Given the description of an element on the screen output the (x, y) to click on. 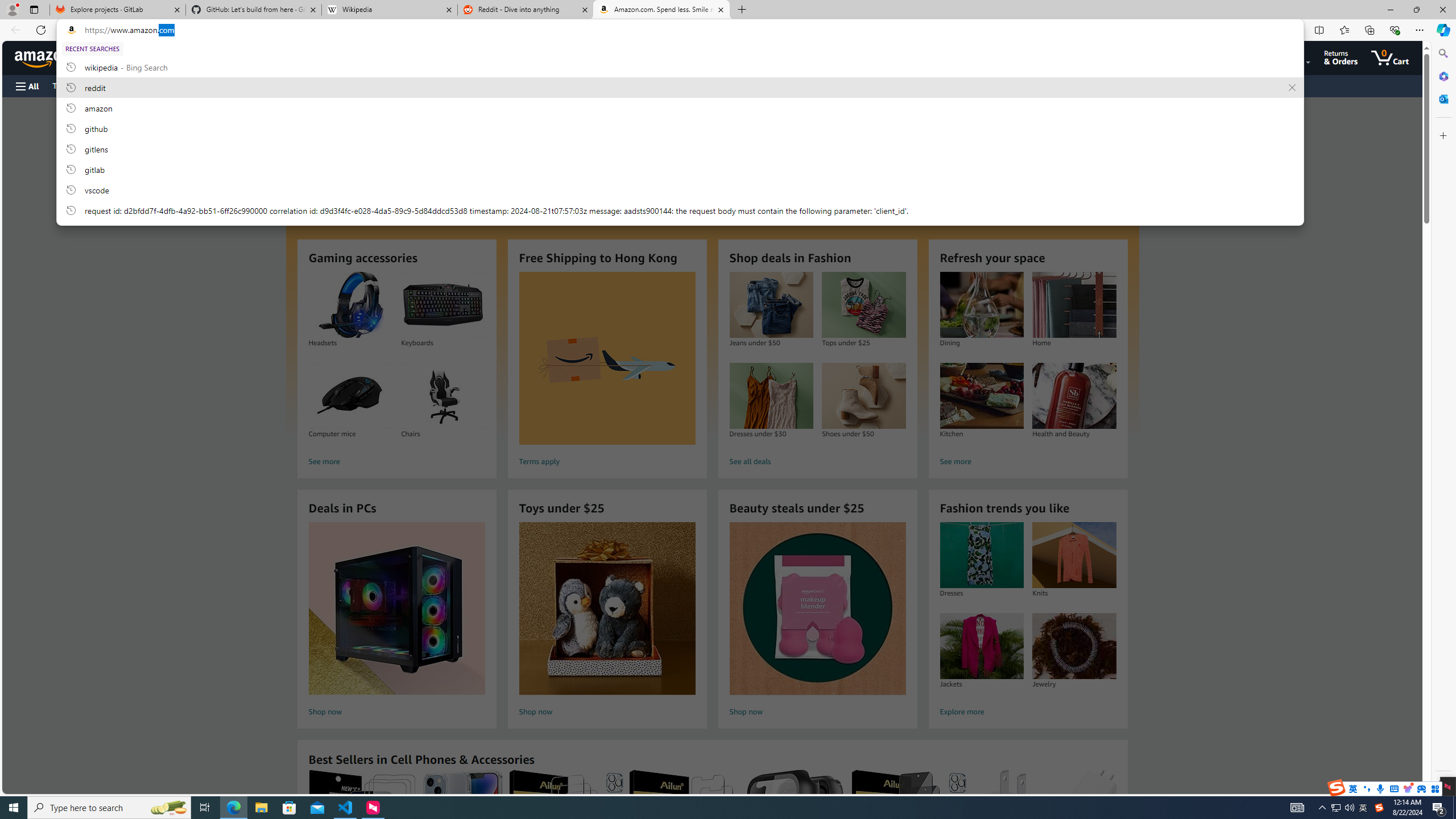
Knits (1074, 555)
Tops under $25 (863, 304)
Knits (1074, 555)
Kitchen (981, 395)
Deals in PCs Shop now (396, 620)
Previous slide (309, 168)
Keyboards (442, 304)
See all deals (817, 461)
Home (1074, 304)
Collections (1369, 29)
Sell (290, 85)
Health and Beauty (1074, 395)
Minimize (1390, 9)
Submit (284, 122)
